Given the description of an element on the screen output the (x, y) to click on. 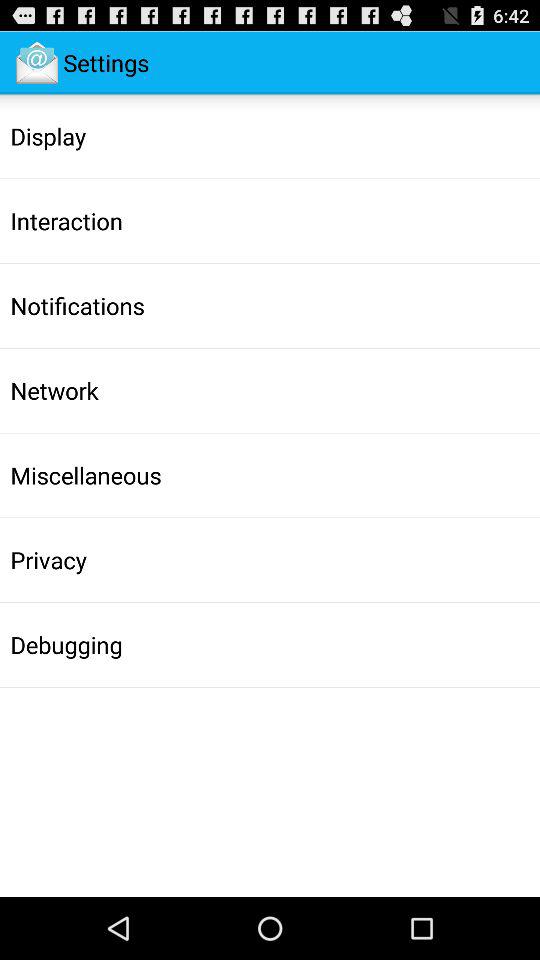
swipe until the notifications (77, 305)
